Given the description of an element on the screen output the (x, y) to click on. 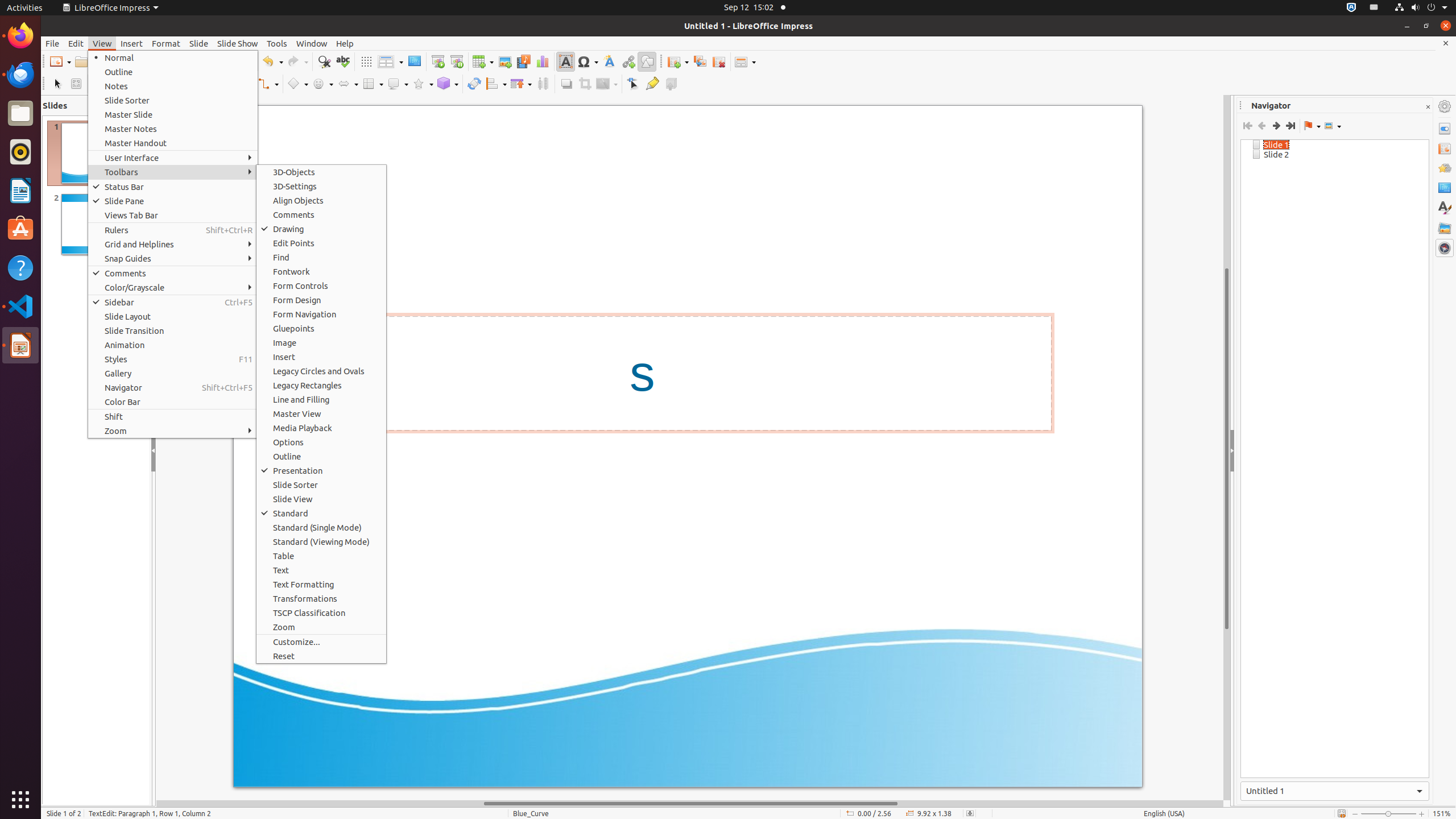
Slide Element type: menu (198, 43)
Rhythmbox Element type: push-button (20, 151)
Visual Studio Code Element type: push-button (20, 306)
Align Objects Element type: check-menu-item (321, 200)
Vertical scroll bar Element type: scroll-bar (1226, 447)
